Given the description of an element on the screen output the (x, y) to click on. 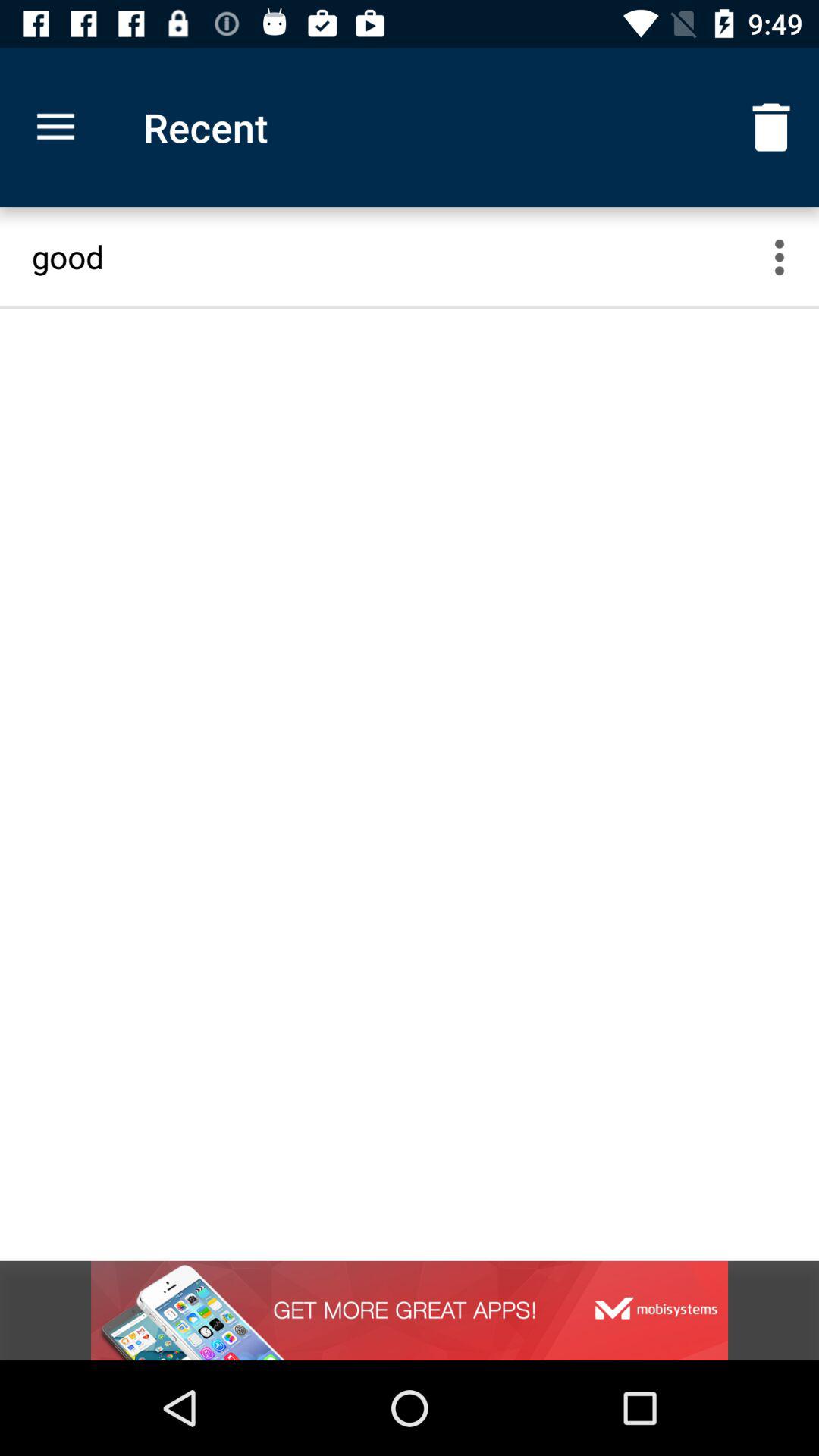
choose the item next to recent icon (771, 127)
